Given the description of an element on the screen output the (x, y) to click on. 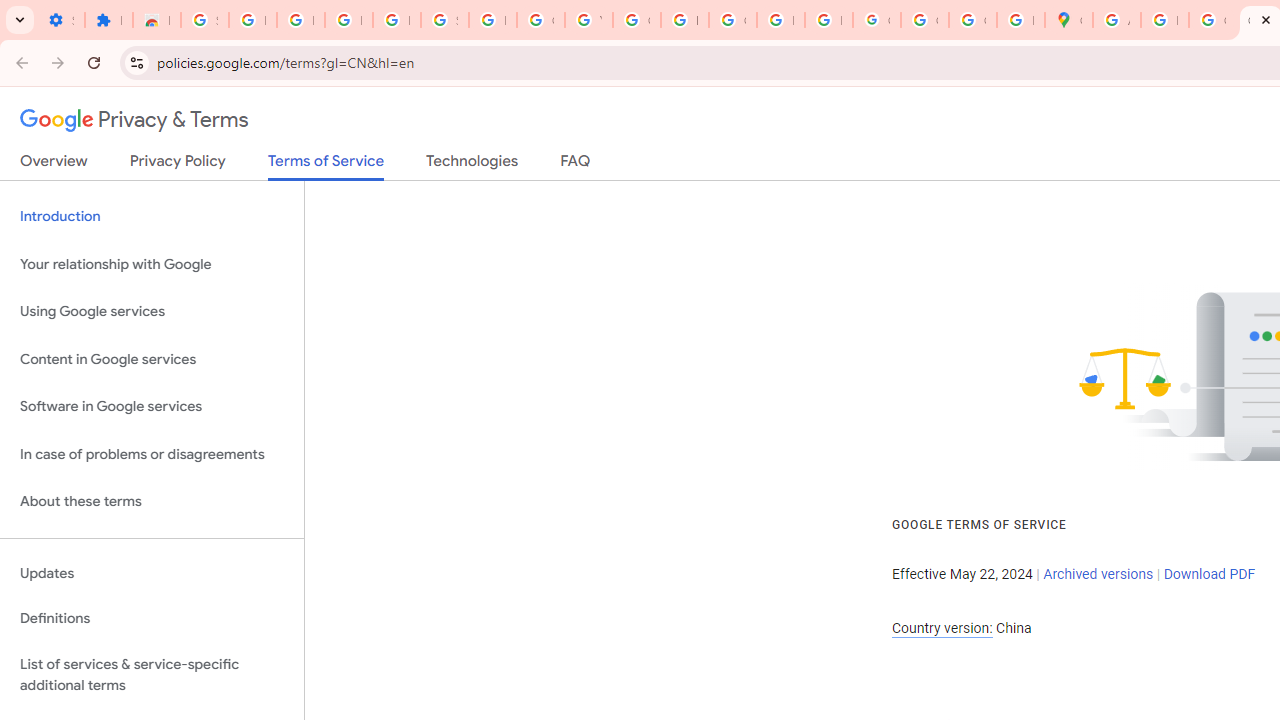
Sign in - Google Accounts (444, 20)
YouTube (588, 20)
In case of problems or disagreements (152, 453)
Google Maps (1068, 20)
Sign in - Google Accounts (204, 20)
Download PDF (1209, 574)
Delete photos & videos - Computer - Google Photos Help (300, 20)
Settings - On startup (60, 20)
